Given the description of an element on the screen output the (x, y) to click on. 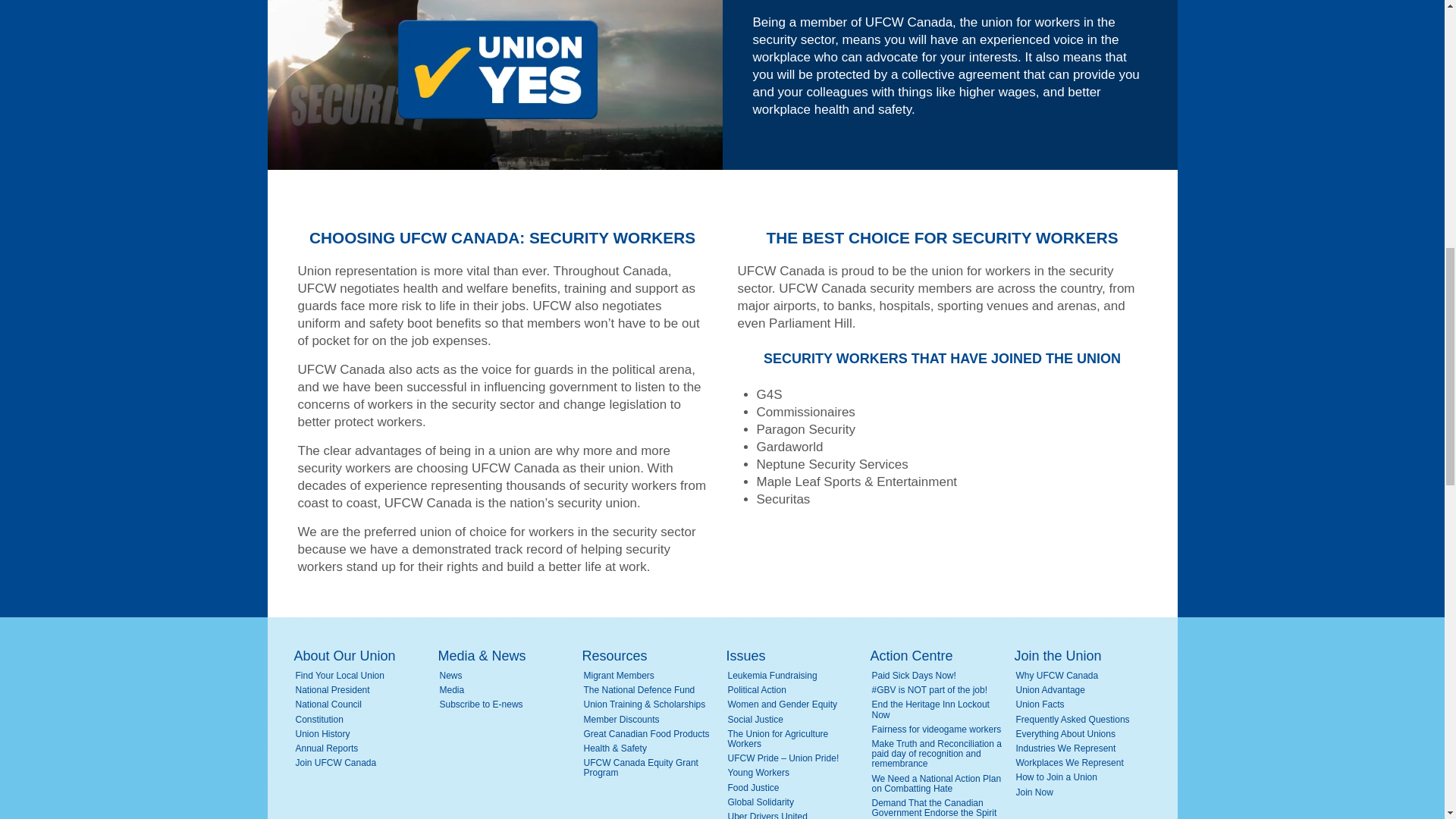
National President (363, 690)
Annual Reports (363, 748)
Resources (650, 656)
Member Discounts (651, 719)
Constitution (363, 719)
The National Defence Fund (651, 690)
Great Canadian Food Products (651, 734)
National Council (363, 705)
Find Your Local Union (363, 675)
Subscribe to E-news (507, 705)
